Given the description of an element on the screen output the (x, y) to click on. 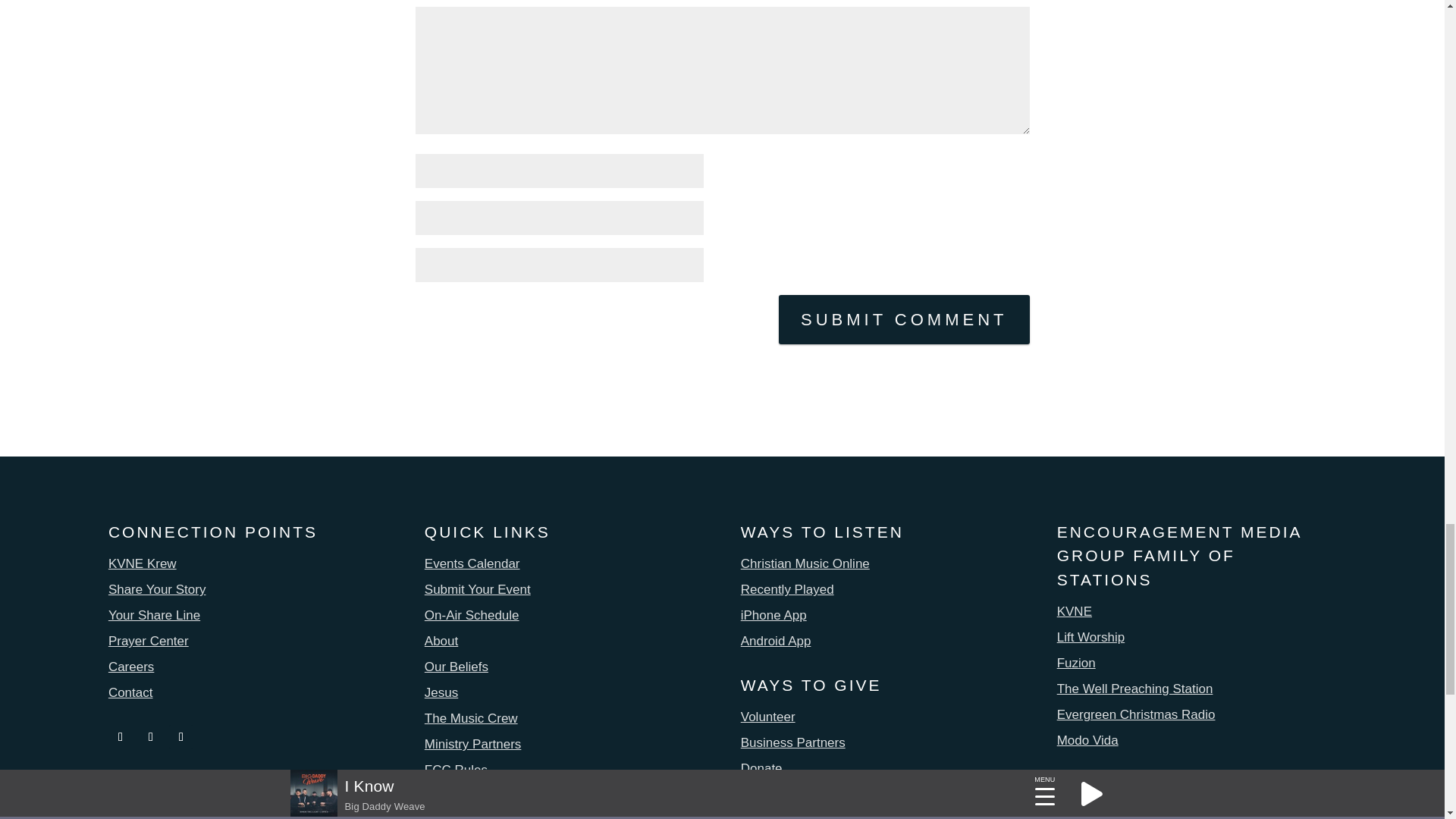
Follow on Vimeo (180, 736)
Follow on Instagram (150, 736)
Follow on Facebook (119, 736)
